Given the description of an element on the screen output the (x, y) to click on. 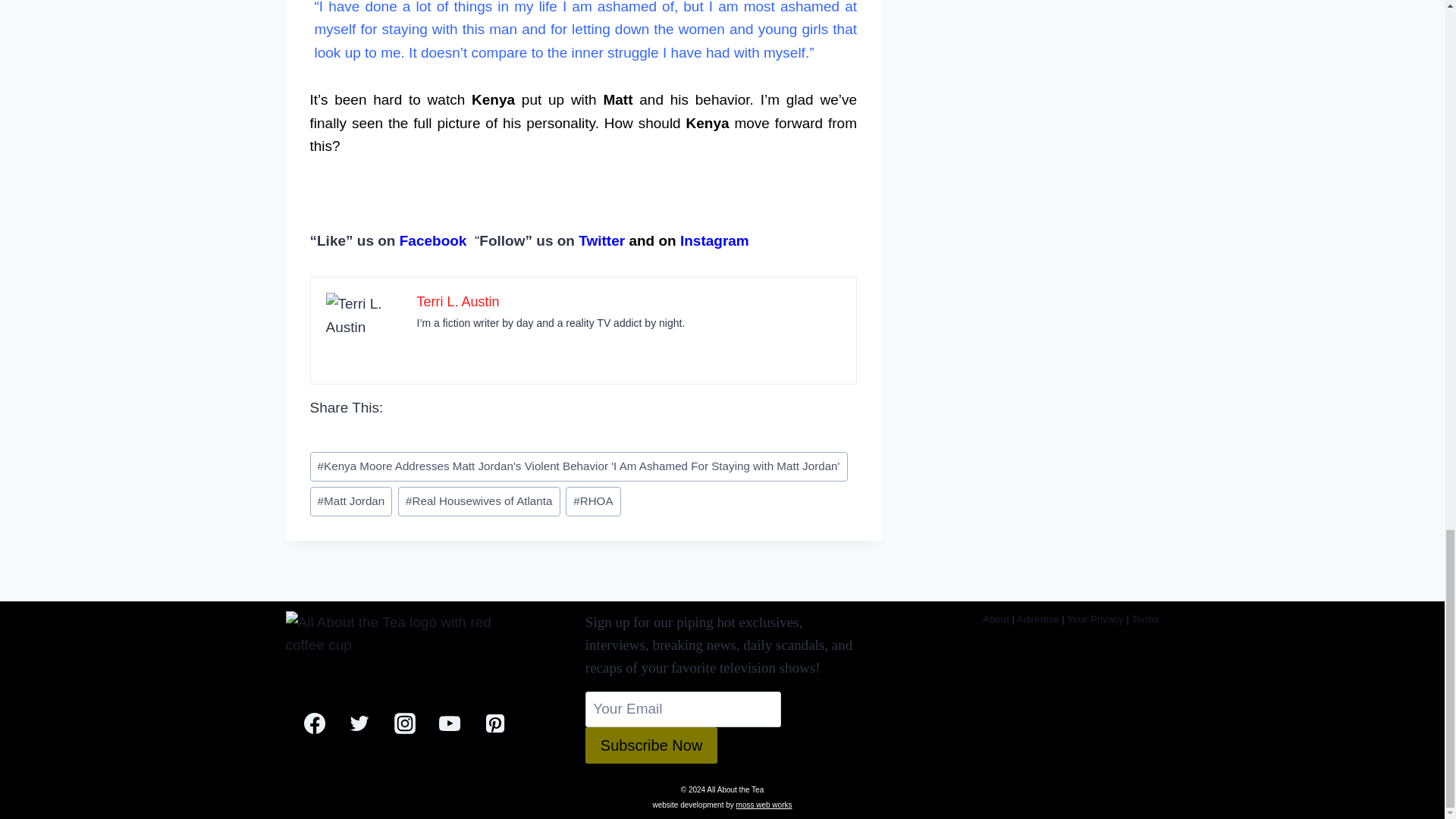
Facebook (432, 240)
Terri L. Austin (457, 301)
Instagram (714, 240)
Twitter (601, 240)
